Given the description of an element on the screen output the (x, y) to click on. 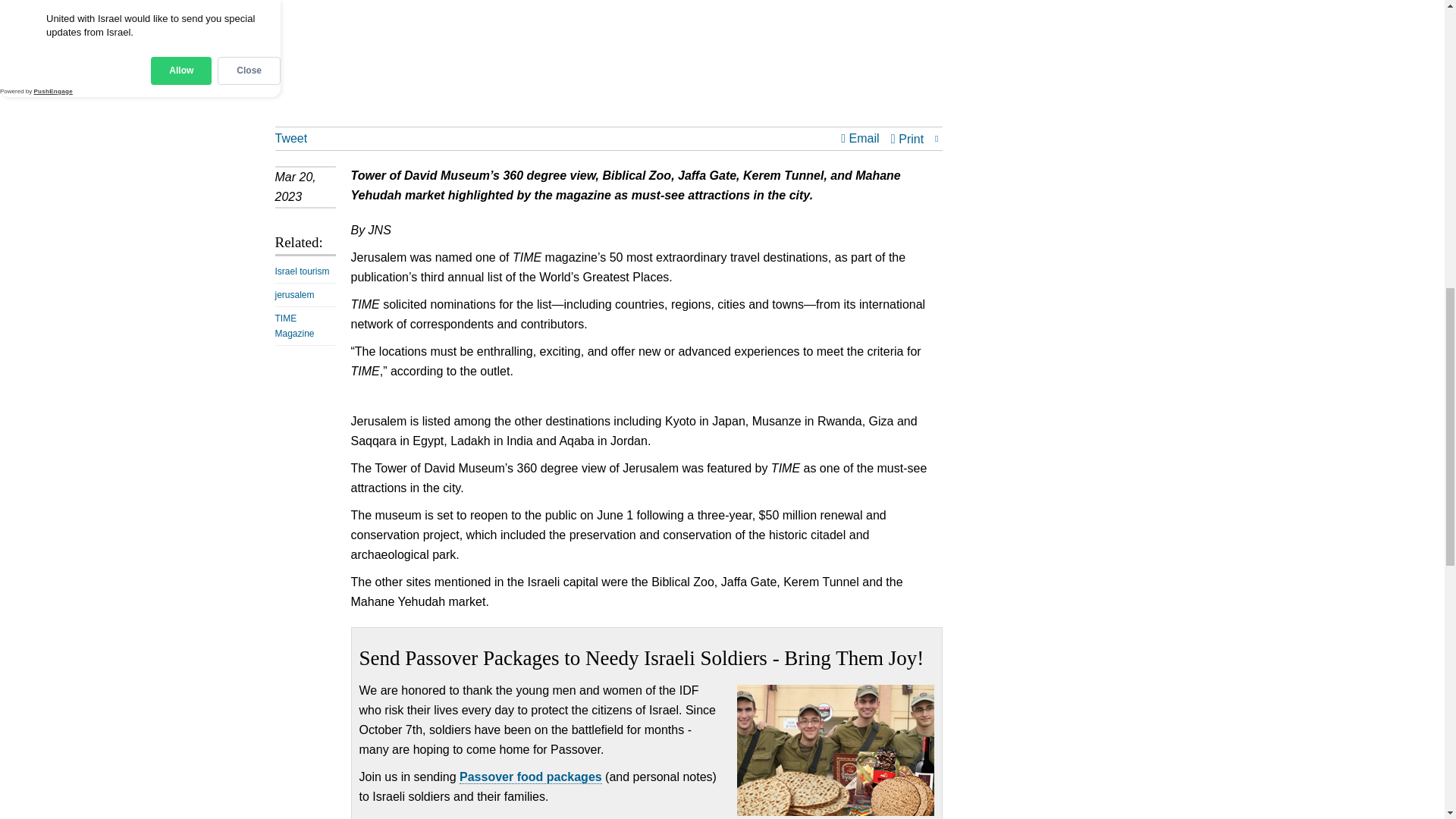
Advertisement (608, 63)
